Given the description of an element on the screen output the (x, y) to click on. 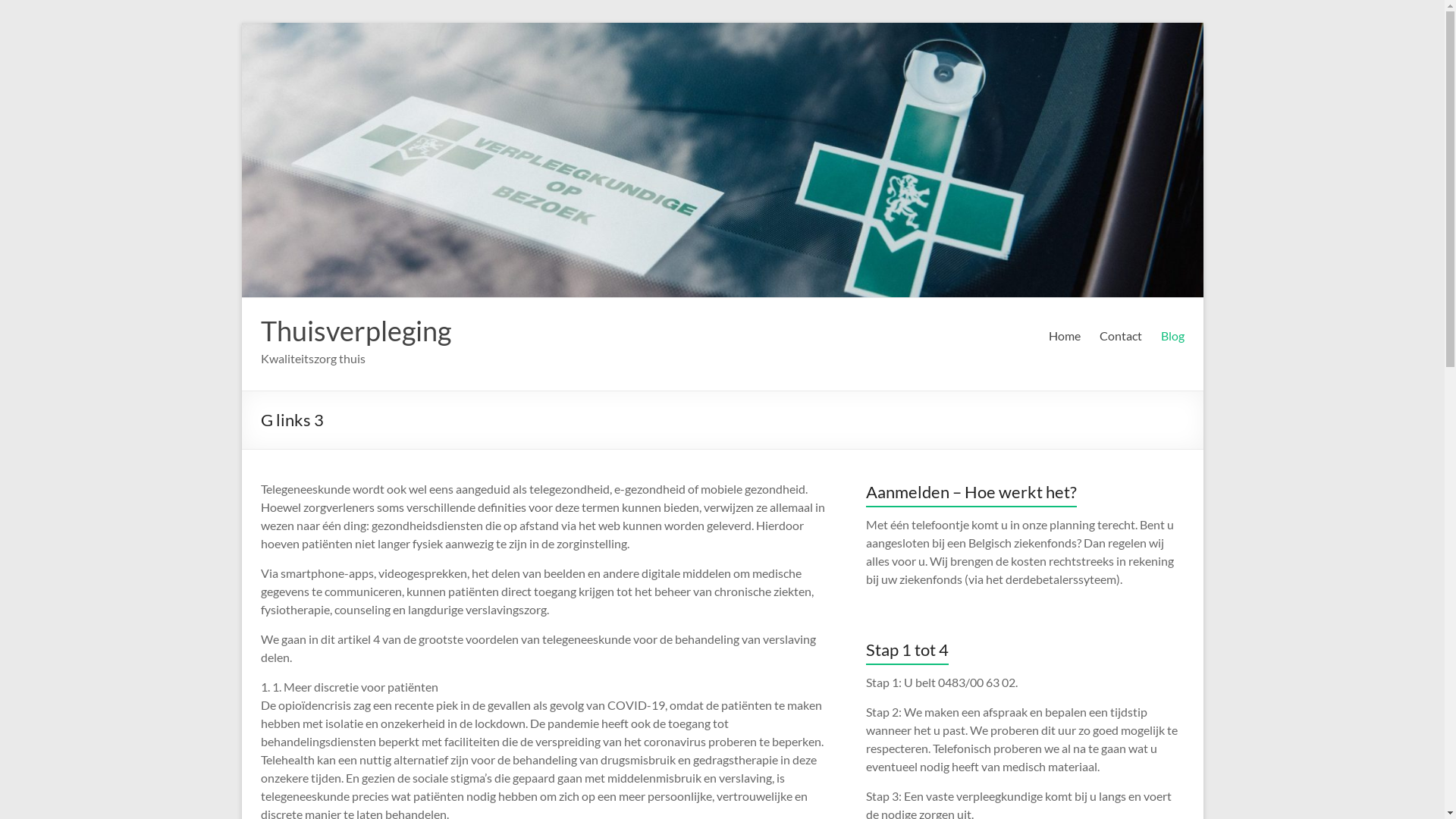
Blog Element type: text (1171, 335)
Contact Element type: text (1120, 335)
Home Element type: text (1063, 335)
Ga naar inhoud Element type: text (241, 21)
Thuisverpleging Element type: text (355, 330)
